Given the description of an element on the screen output the (x, y) to click on. 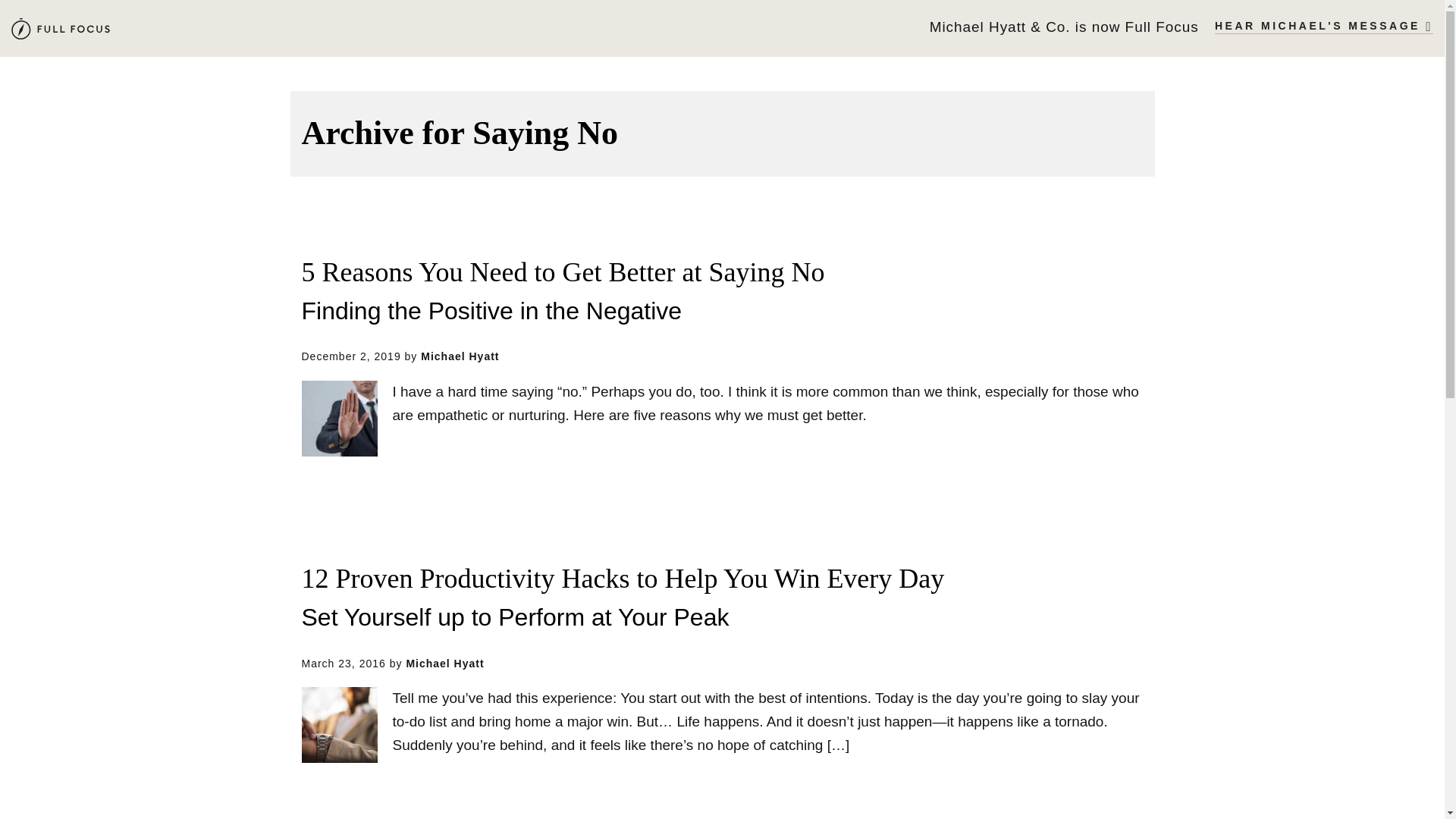
Michael Hyatt (444, 663)
12 Proven Productivity Hacks to Help You Win Every Day (622, 579)
HEAR MICHAEL'S MESSAGE (1323, 26)
5 Reasons You Need to Get Better at Saying No (563, 273)
Michael Hyatt (60, 28)
Michael Hyatt (459, 356)
